Given the description of an element on the screen output the (x, y) to click on. 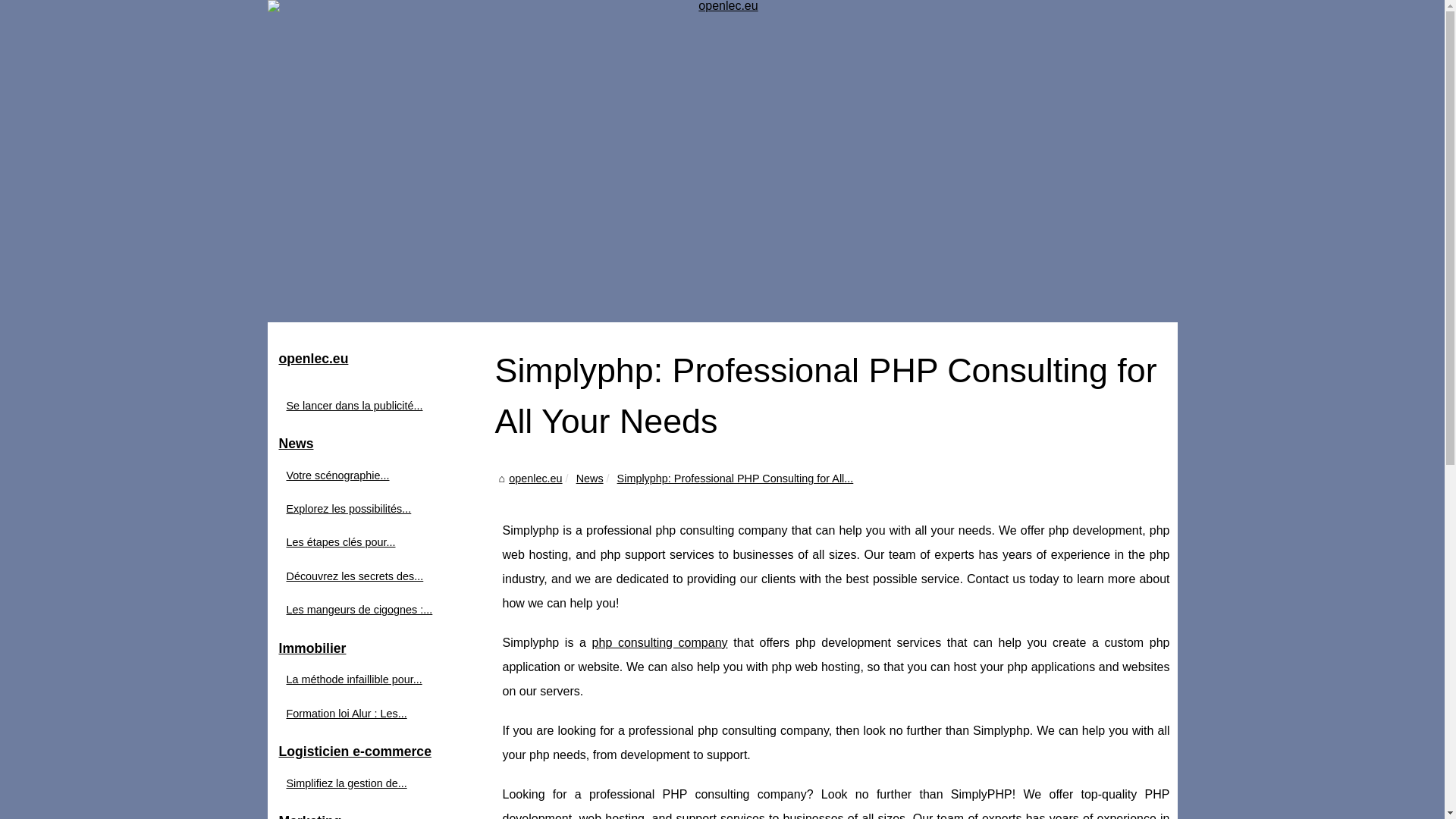
openlec.eu (535, 478)
News (380, 443)
Marketing (380, 813)
Simplifiez la gestion de... (373, 782)
openlec.eu (380, 358)
Simplyphp: Professional PHP Consulting for All... (735, 478)
News (380, 443)
News (590, 478)
Formation loi Alur : Les... (373, 713)
Simplyphp: Professional PHP Consulting for All... (735, 478)
php consulting company (660, 642)
Immobilier (380, 648)
openlec.eu (535, 478)
openlec.eu (380, 358)
Logisticien e-commerce (380, 751)
